Given the description of an element on the screen output the (x, y) to click on. 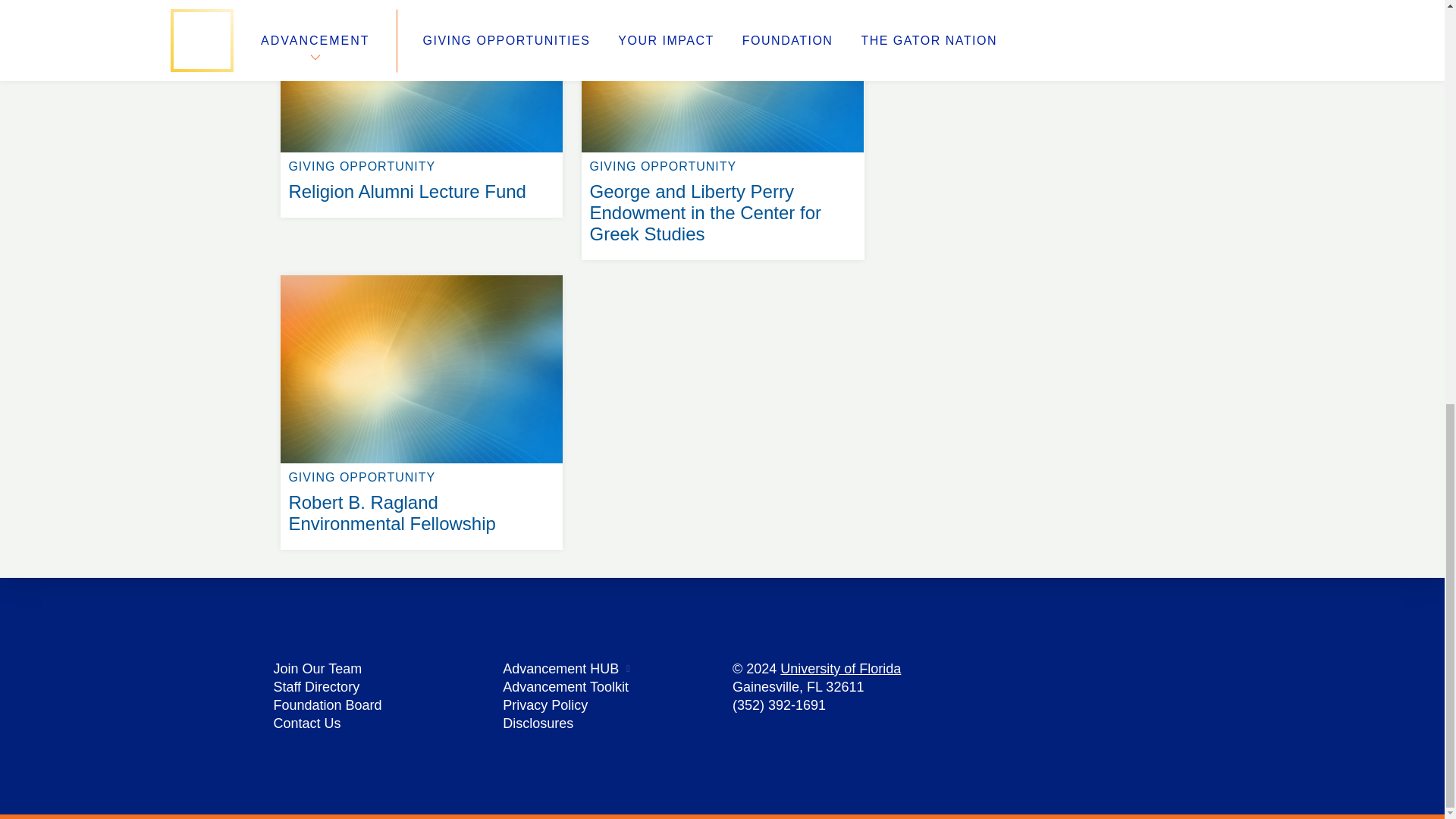
Join Our Team (317, 668)
Privacy Policy (545, 704)
Foundation Board (327, 704)
University of Florida (840, 668)
Advancement Toolkit (565, 686)
Contact Us (306, 723)
Staff Directory (316, 686)
Advancement HUB (560, 668)
Disclosures (537, 723)
